Given the description of an element on the screen output the (x, y) to click on. 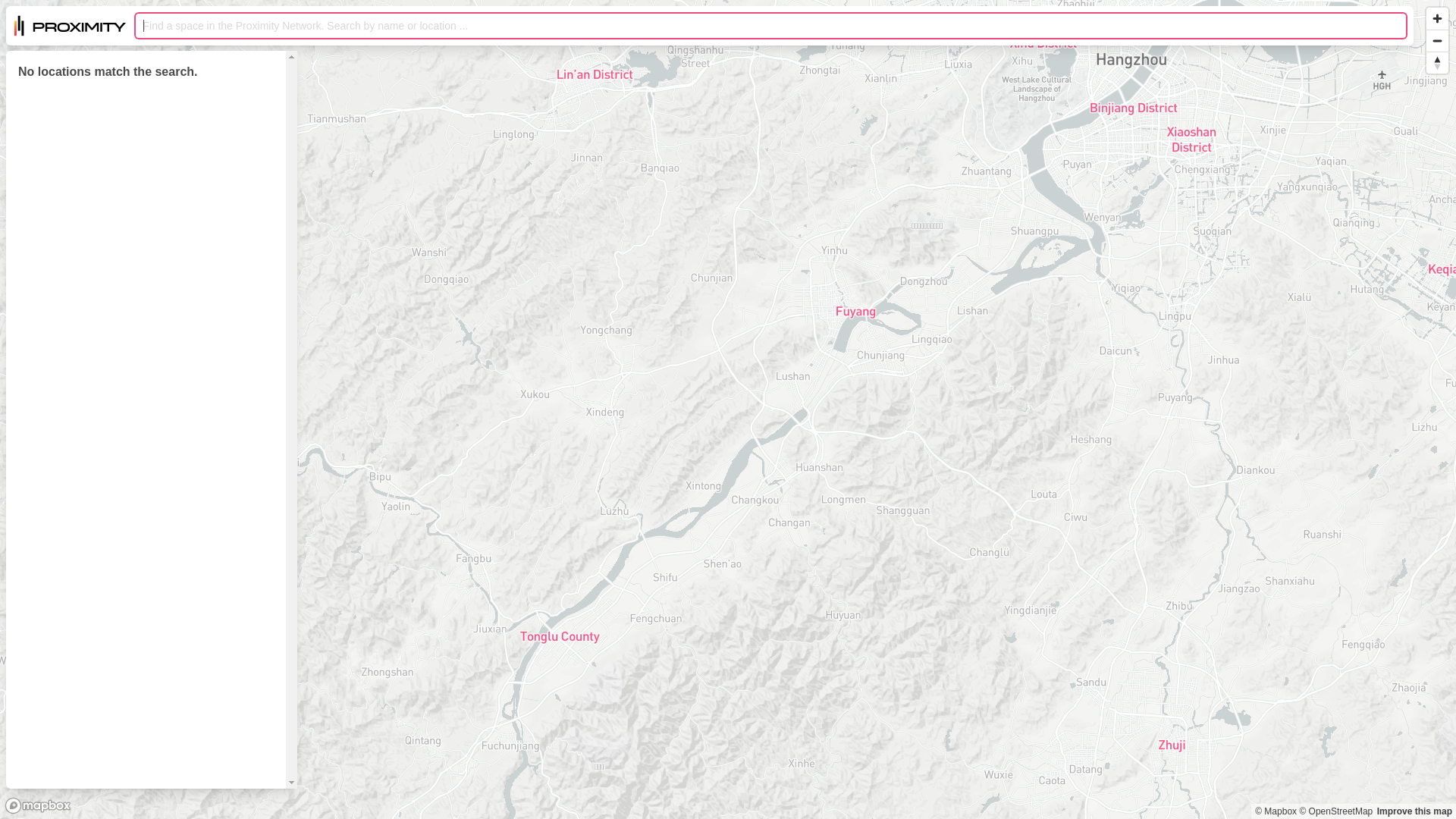
Improve this map Element type: text (1414, 811)
Zoom out Element type: hover (1437, 40)
Zoom in Element type: hover (1437, 18)
Reset bearing to north Element type: hover (1437, 62)
